Given the description of an element on the screen output the (x, y) to click on. 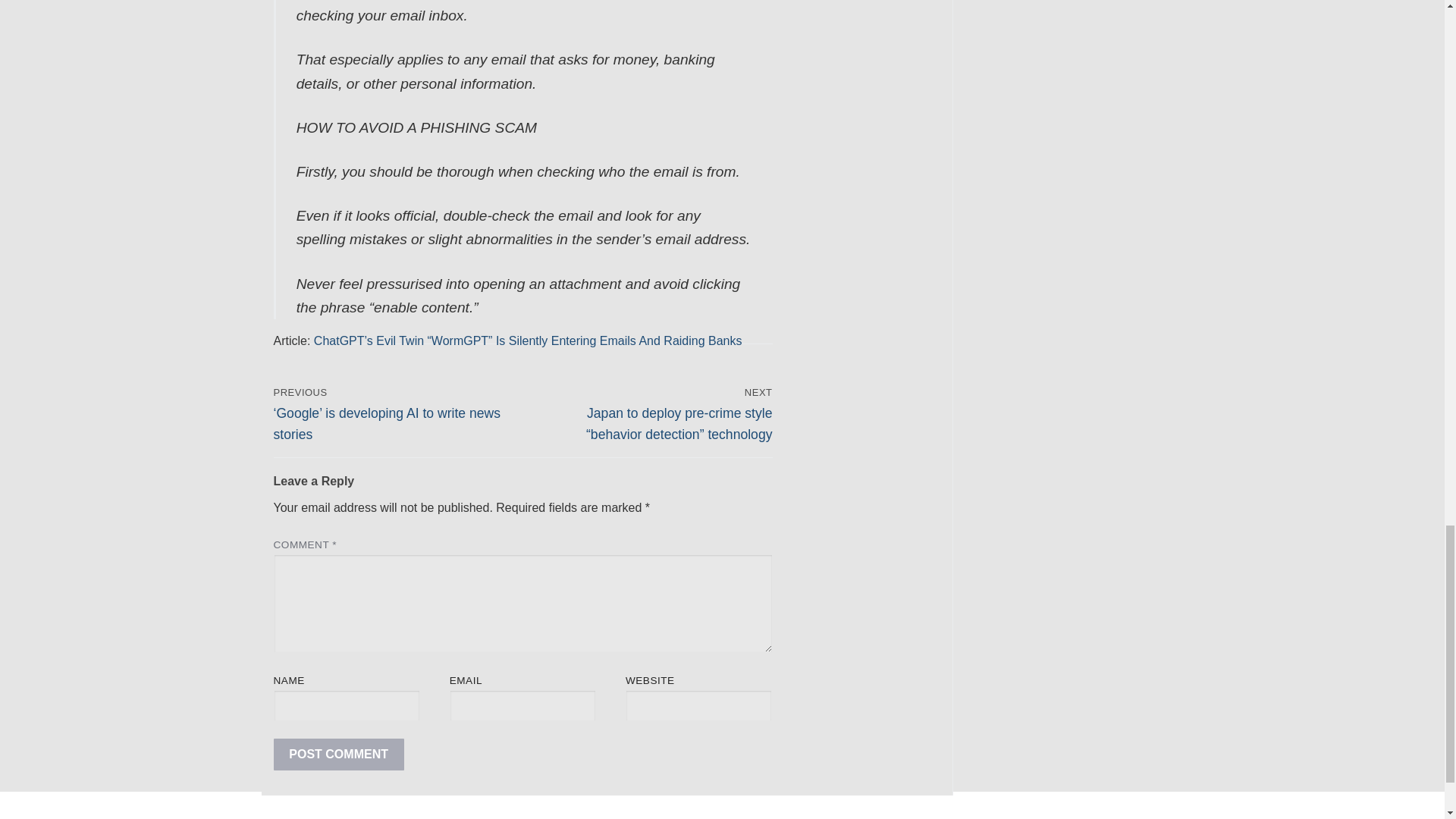
Post Comment (338, 754)
Post Comment (338, 754)
